Given the description of an element on the screen output the (x, y) to click on. 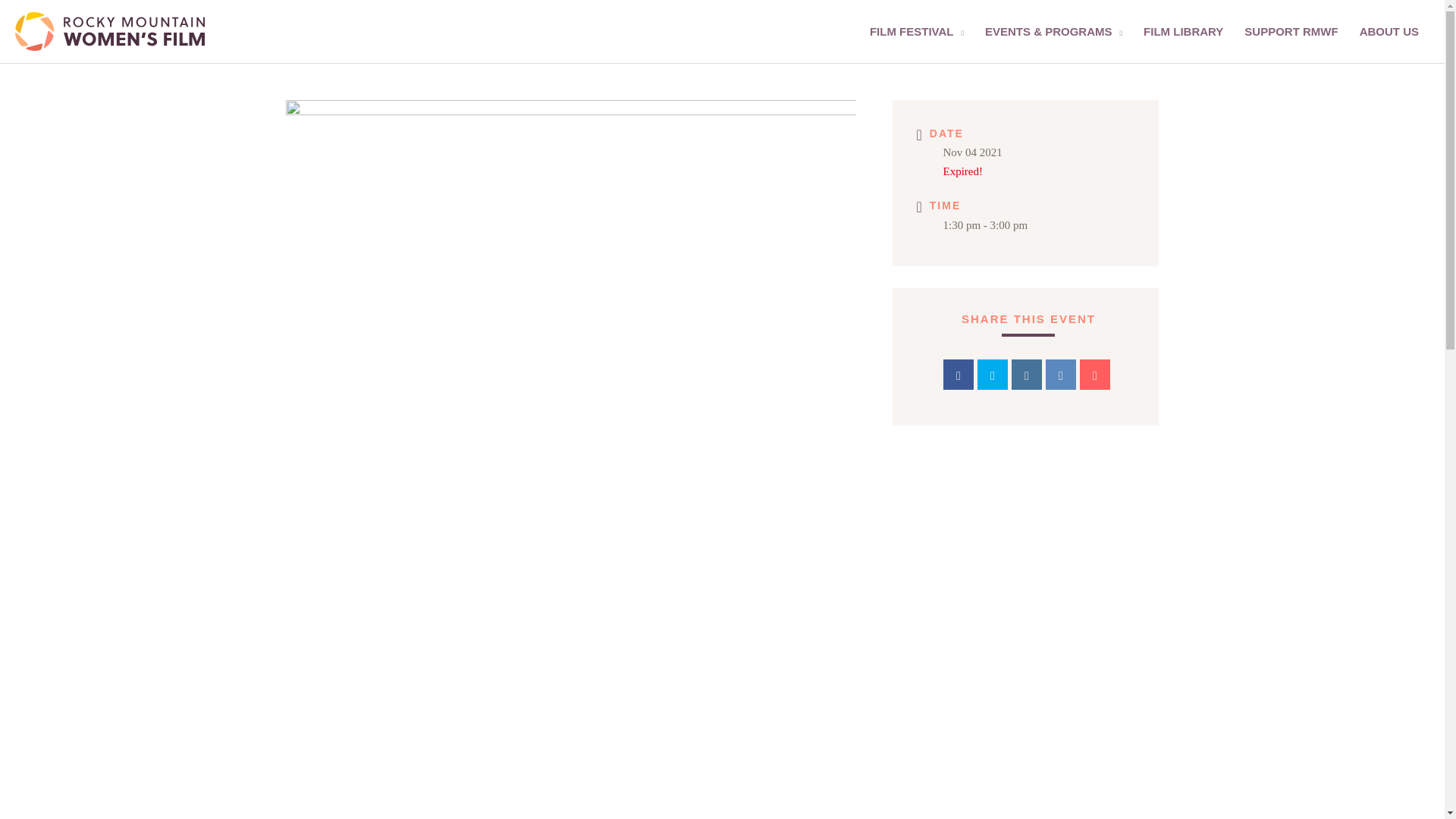
ABOUT US (1389, 31)
Email (1094, 374)
FILM FESTIVAL (916, 31)
VK (1060, 374)
Linkedin (1026, 374)
SUPPORT RMWF (1290, 31)
Tweet (991, 374)
FILM LIBRARY (1182, 31)
Share on Facebook (958, 374)
